Given the description of an element on the screen output the (x, y) to click on. 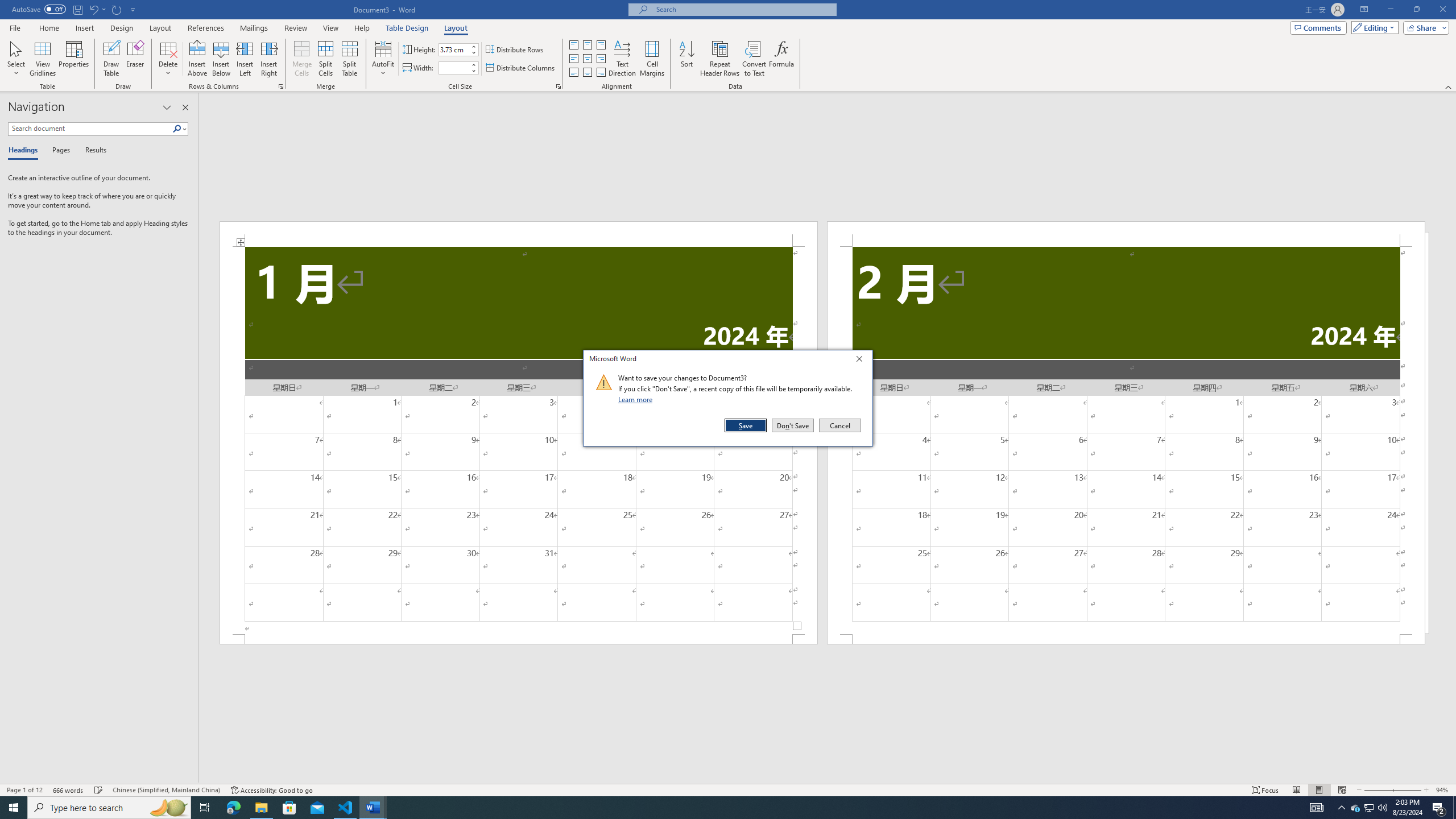
Formula... (780, 58)
Insert Right (269, 58)
Microsoft Edge (233, 807)
Word - 2 running windows (373, 807)
Running applications (717, 807)
Header -Section 1- (518, 233)
